Given the description of an element on the screen output the (x, y) to click on. 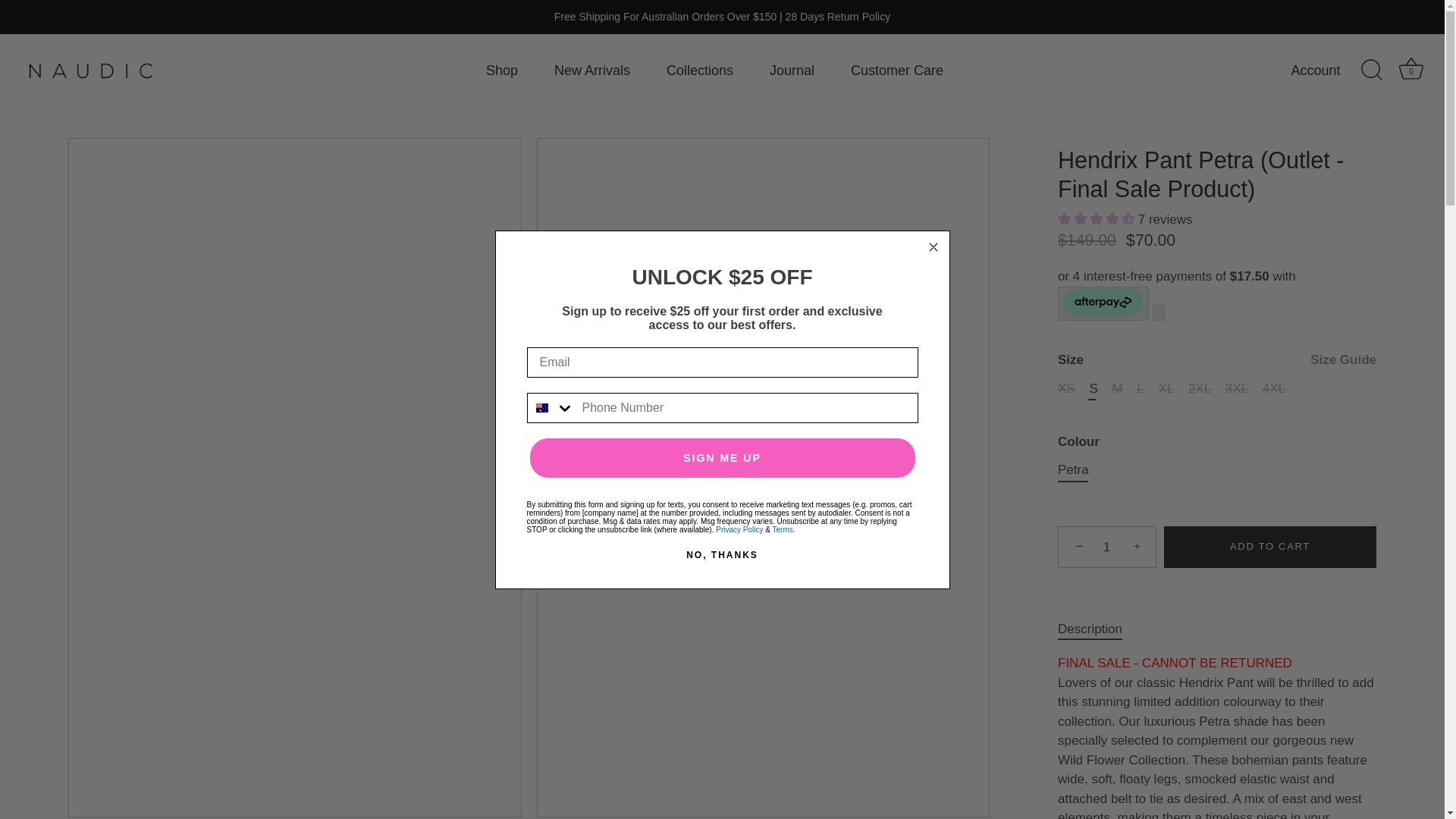
New Arrivals (591, 70)
Australia (541, 408)
Customer Care (896, 70)
Journal (790, 70)
Basket (1411, 70)
Account (1410, 68)
Shop (1328, 71)
Collections (501, 70)
